Given the description of an element on the screen output the (x, y) to click on. 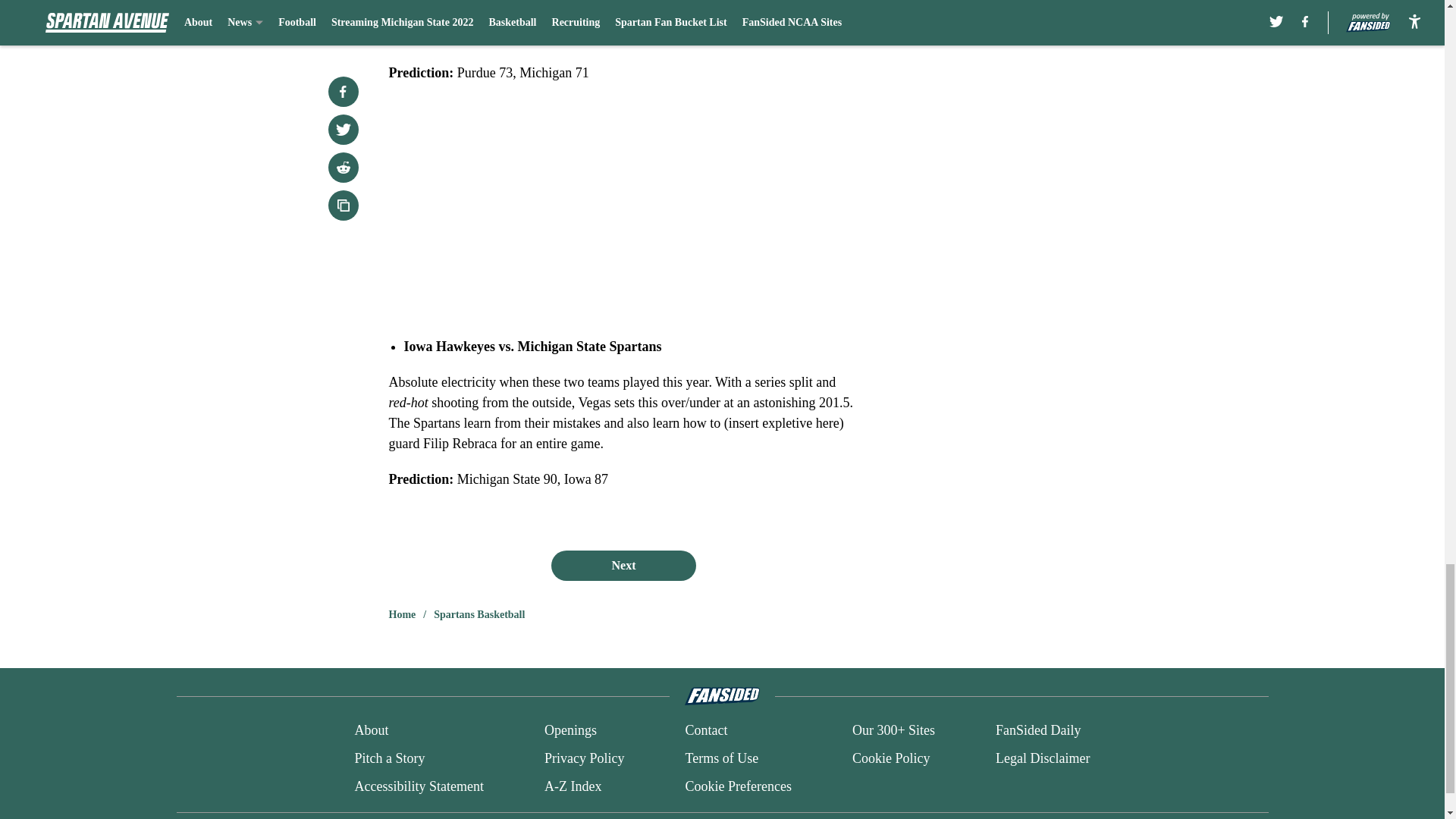
Home (401, 614)
About (370, 730)
Pitch a Story (389, 758)
Openings (570, 730)
Spartans Basketball (478, 614)
FanSided Daily (1038, 730)
Contact (705, 730)
Next (622, 565)
Privacy Policy (584, 758)
